Given the description of an element on the screen output the (x, y) to click on. 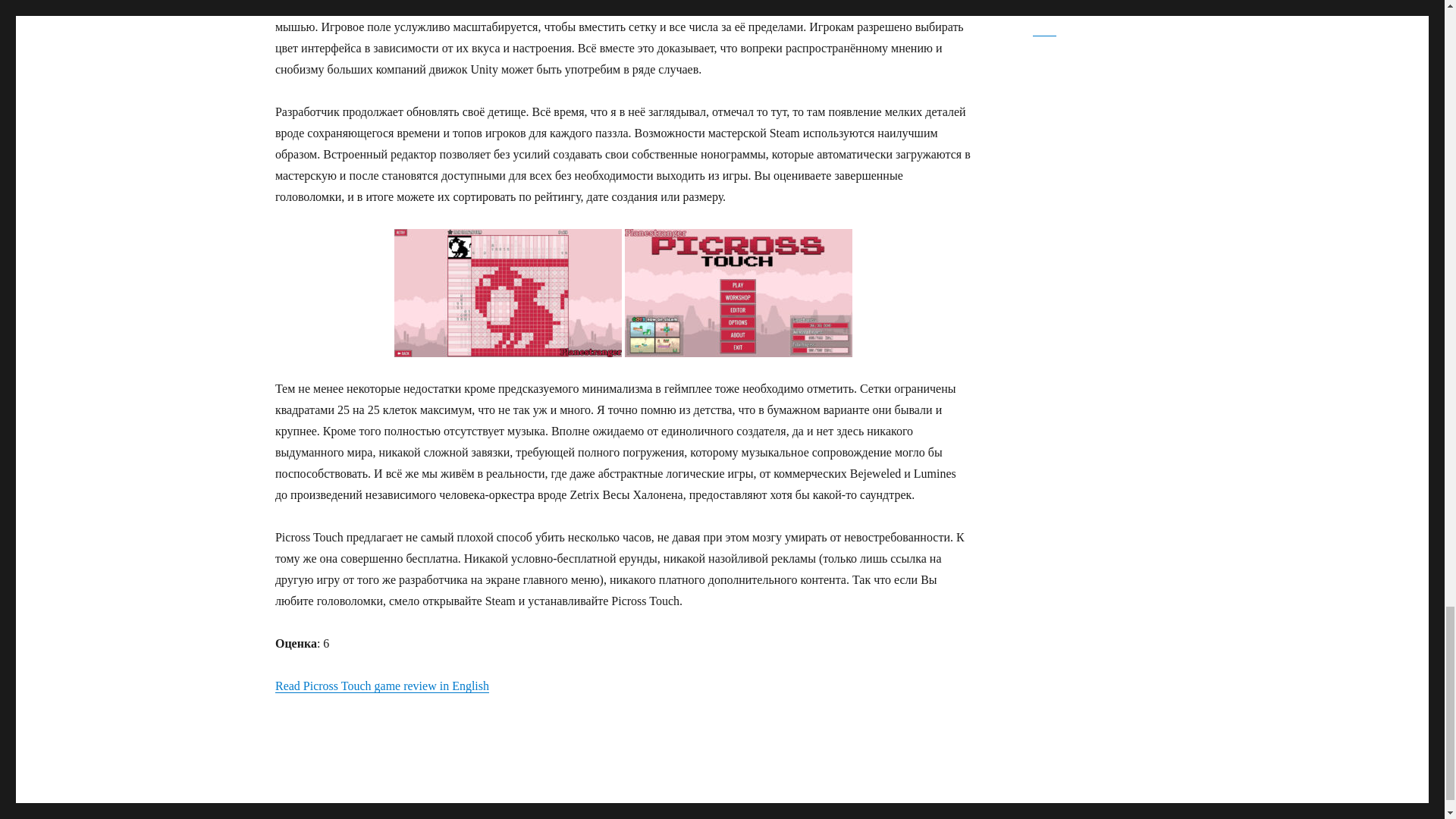
Read Picross Touch game review in English (382, 685)
